Given the description of an element on the screen output the (x, y) to click on. 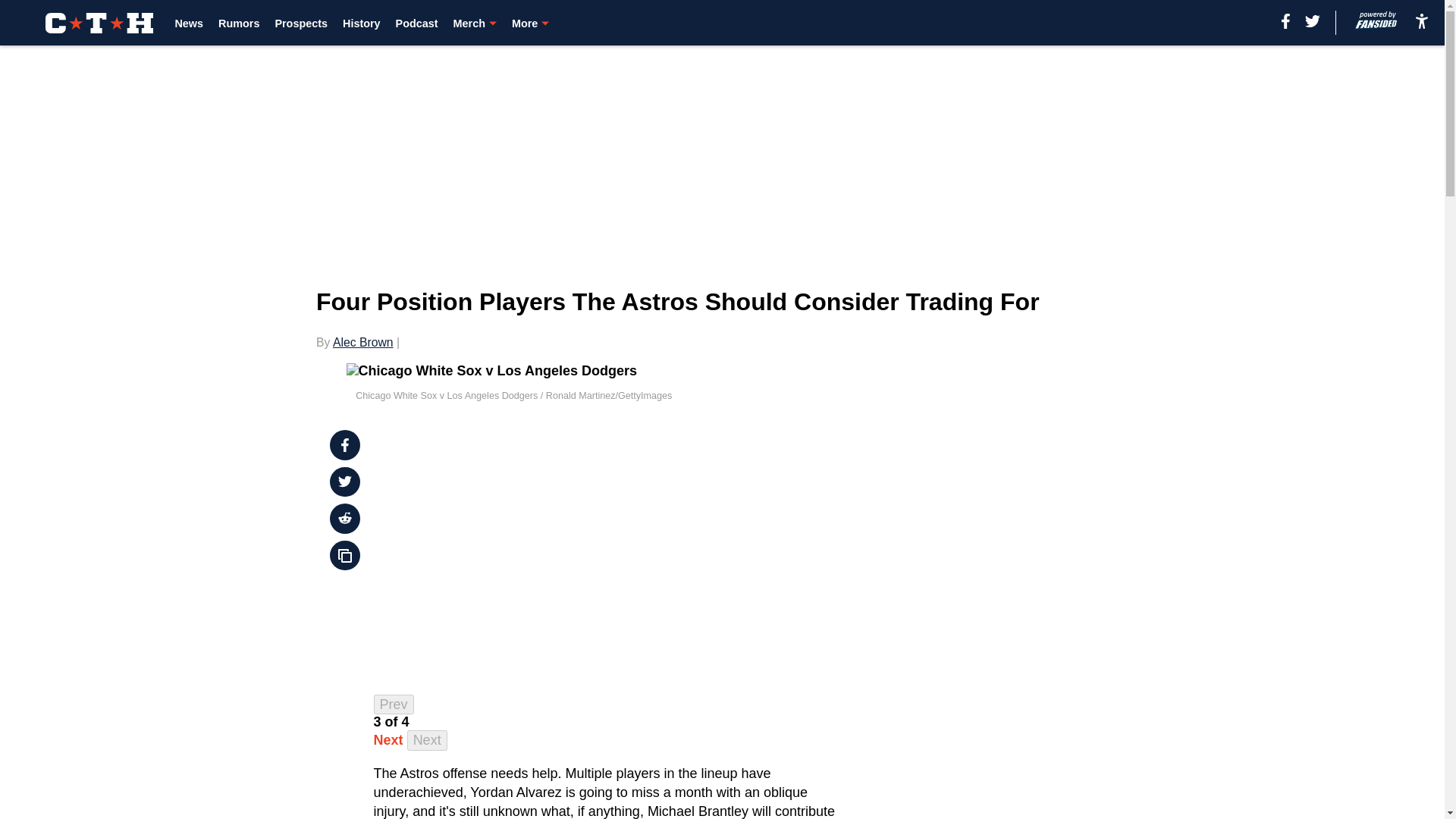
Next (426, 740)
Podcast (417, 23)
Alec Brown (363, 341)
Next (388, 739)
Rumors (238, 23)
News (188, 23)
Prev (393, 704)
History (361, 23)
Prospects (301, 23)
